Given the description of an element on the screen output the (x, y) to click on. 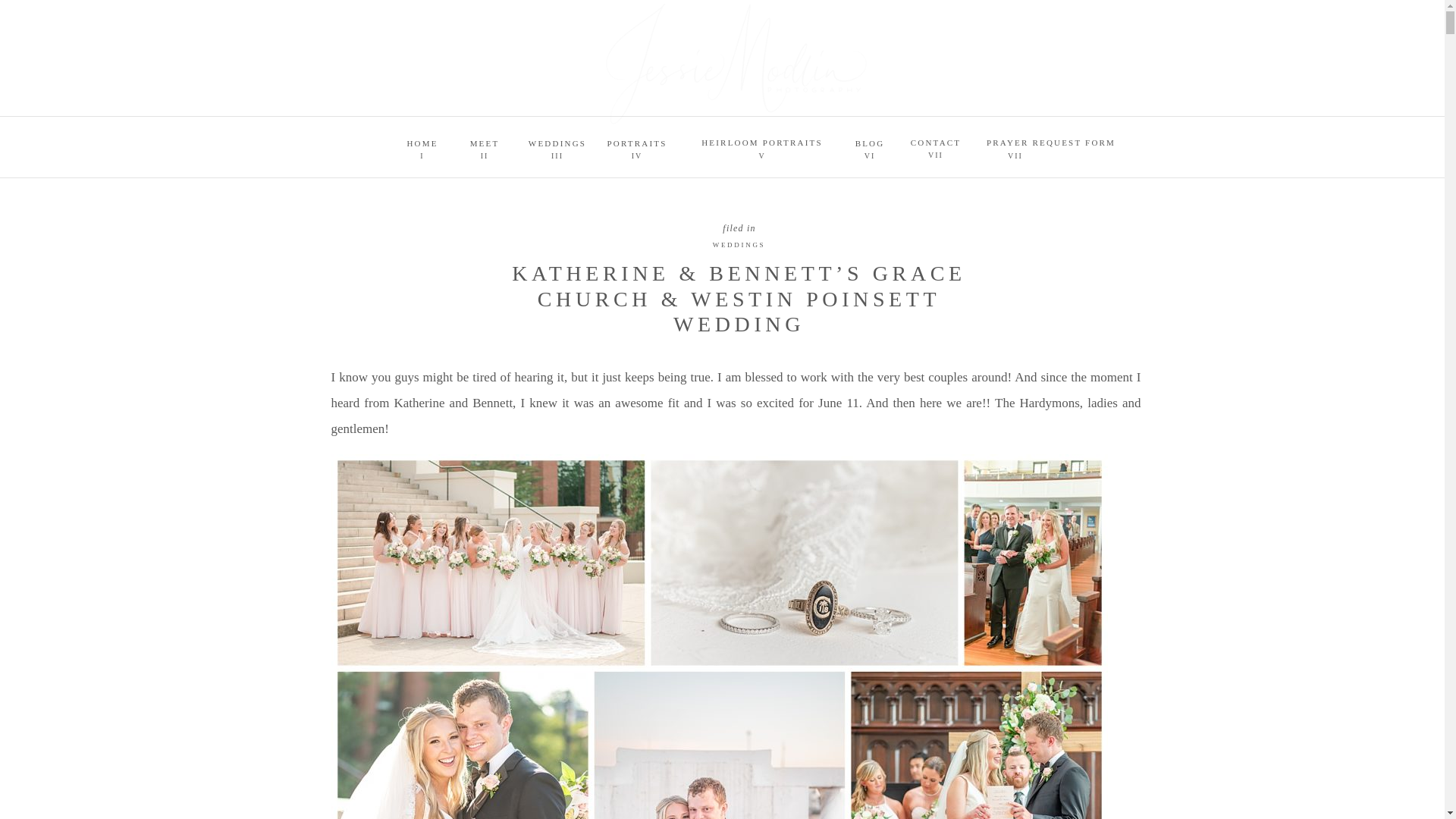
CONTACT (935, 140)
BLOG (869, 141)
VI (869, 154)
WEDDINGS (739, 244)
III (557, 154)
MEET (484, 141)
WEDDINGS (557, 141)
HOME (422, 141)
HEIRLOOM PORTRAITS (761, 140)
I (422, 154)
IV (637, 154)
II (484, 154)
V (761, 154)
PORTRAITS (637, 141)
VII (1014, 154)
